Given the description of an element on the screen output the (x, y) to click on. 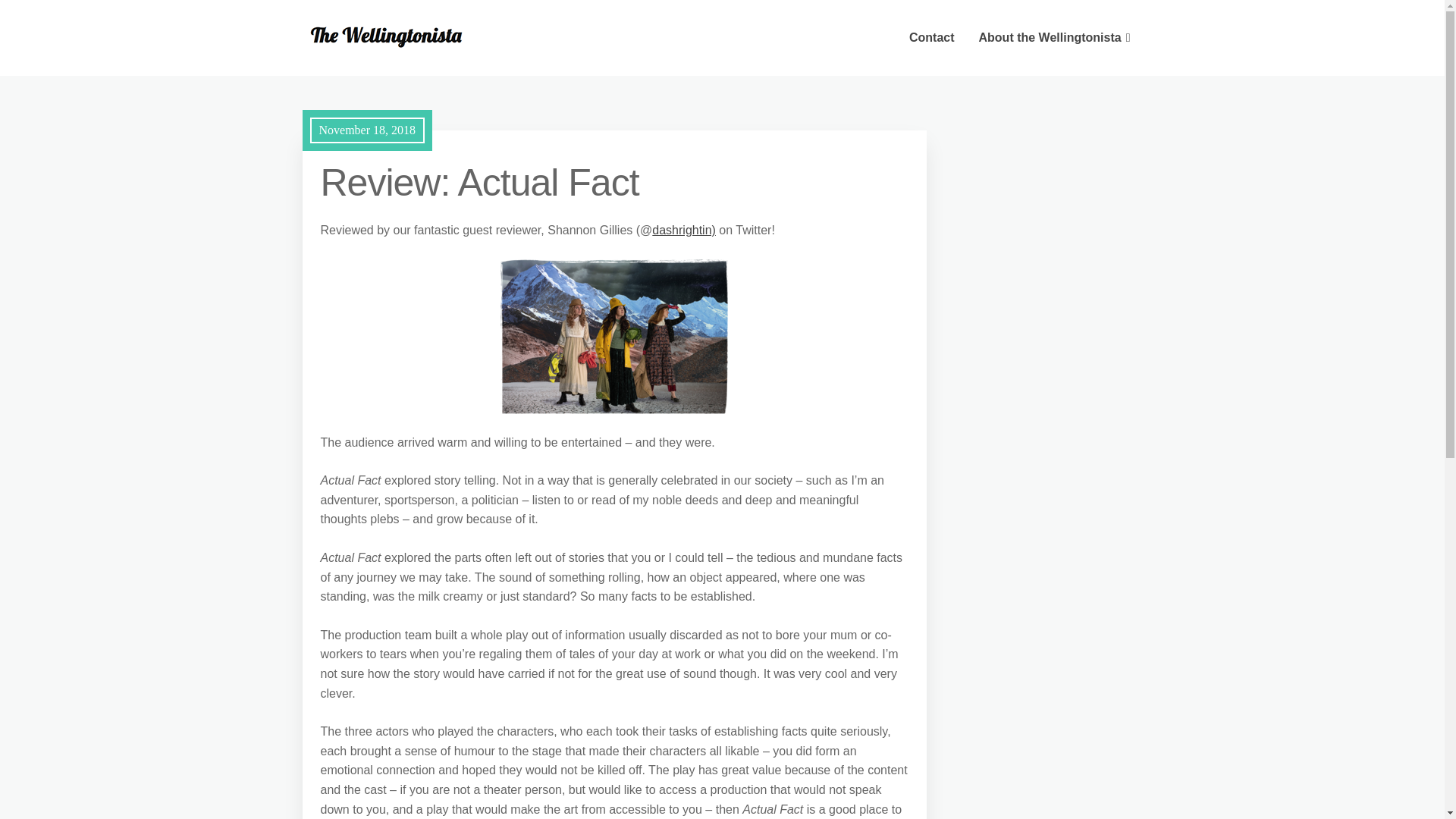
About the Wellingtonista (1054, 37)
Contact (931, 37)
